Given the description of an element on the screen output the (x, y) to click on. 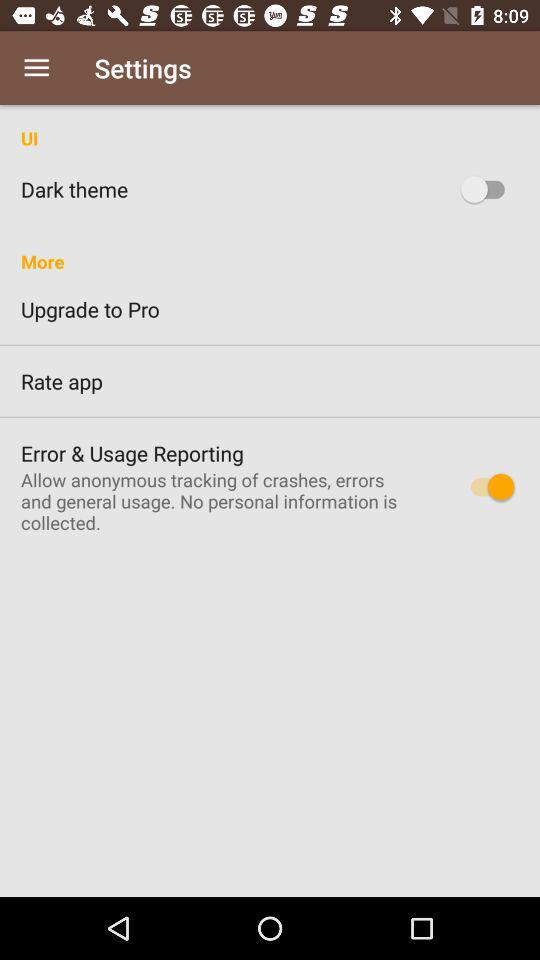
press icon above the ui icon (36, 68)
